Given the description of an element on the screen output the (x, y) to click on. 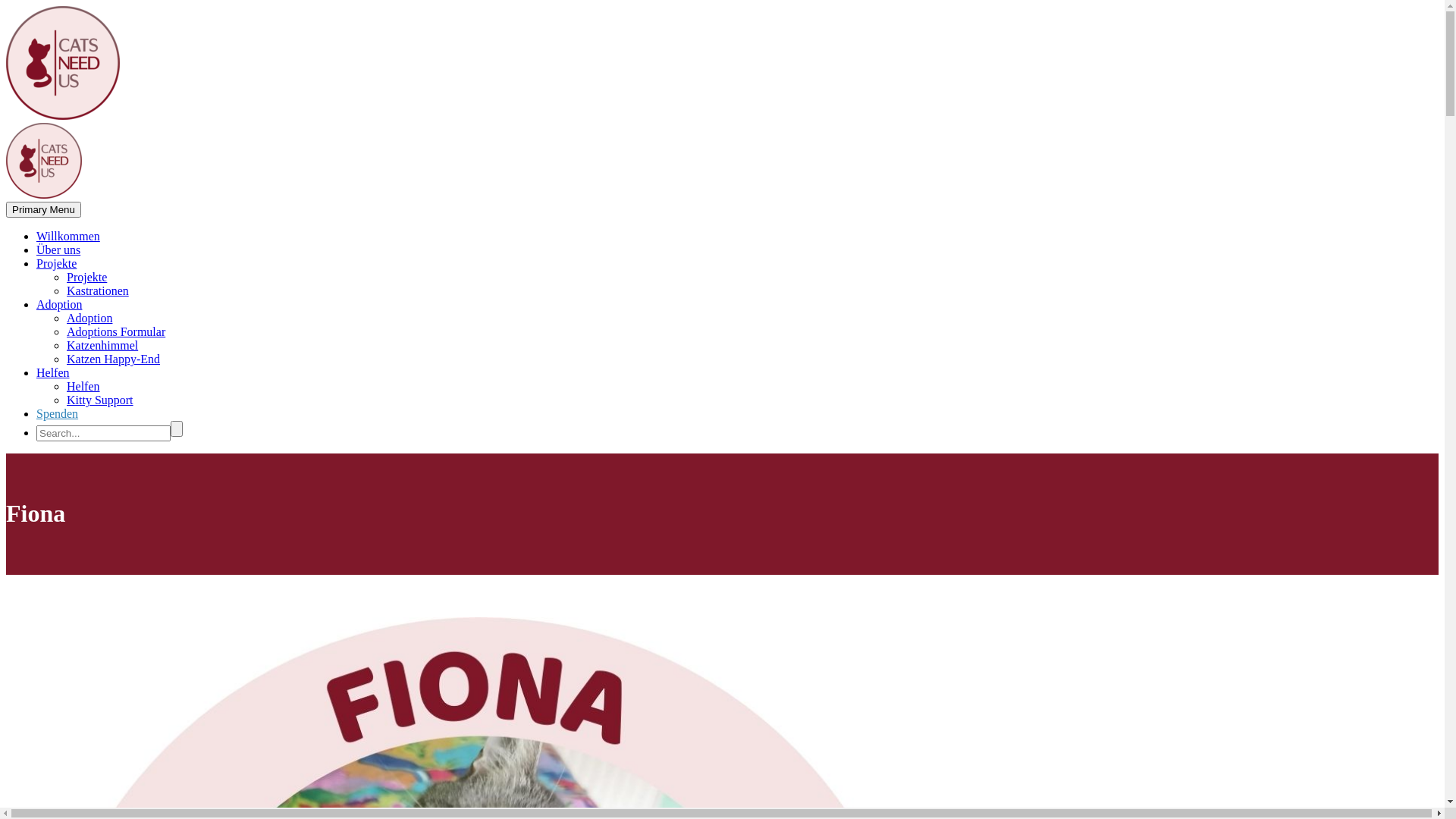
Kastrationen Element type: text (97, 290)
Adoption Element type: text (58, 304)
Adoptions Formular Element type: text (115, 331)
Katzenhimmel Element type: text (102, 344)
Spenden Element type: text (57, 413)
Helfen Element type: text (52, 372)
Helfen Element type: text (83, 385)
Katzen Happy-End Element type: text (113, 358)
Kitty Support Element type: text (99, 399)
Projekte Element type: text (86, 276)
Projekte Element type: text (56, 263)
Primary Menu Element type: text (43, 209)
Willkommen Element type: text (68, 235)
Adoption Element type: text (89, 317)
